Given the description of an element on the screen output the (x, y) to click on. 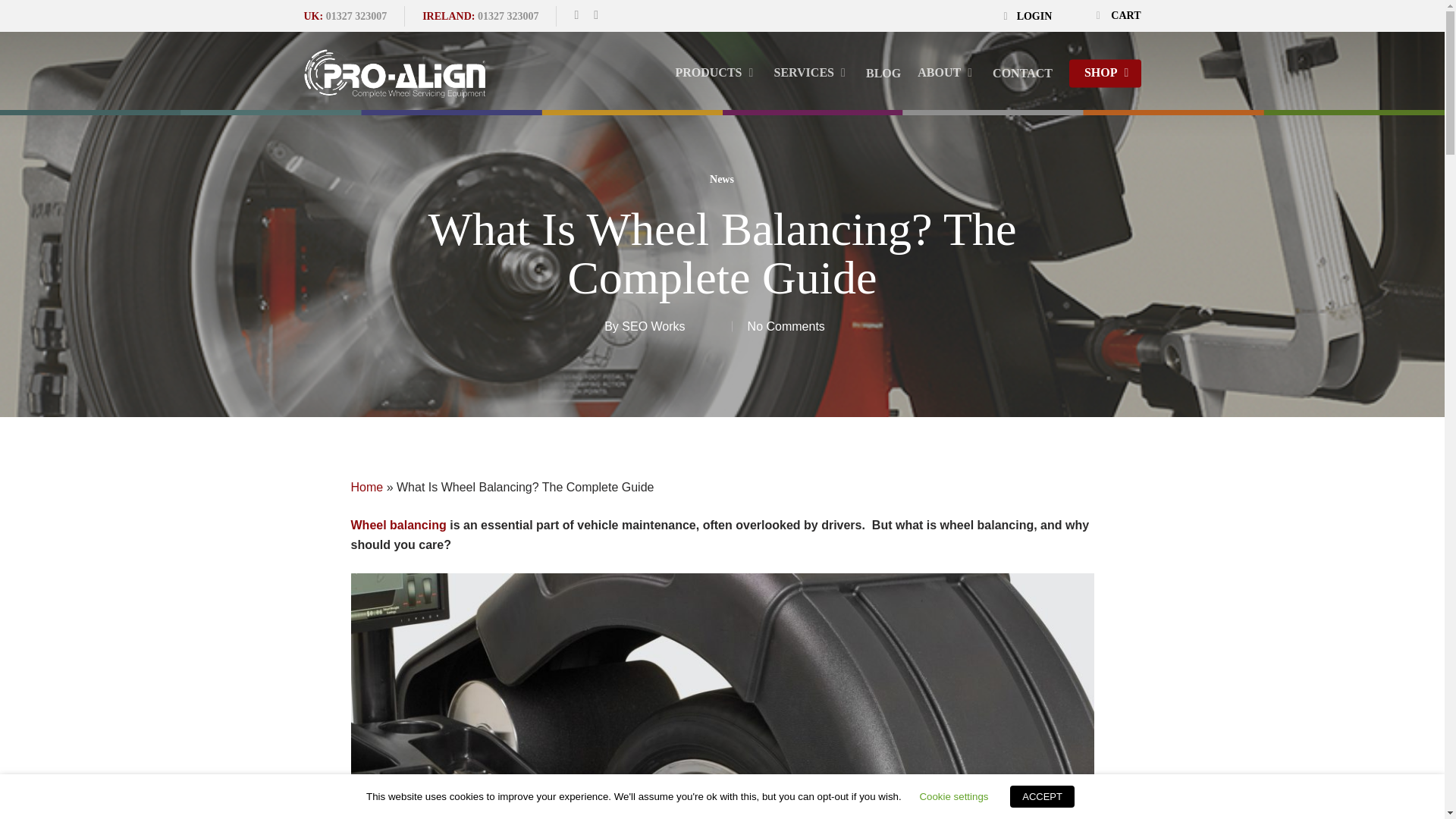
01327 323007 (507, 16)
01327 323007 (356, 16)
Posts by SEO Works (1028, 16)
PRODUCTS (652, 326)
